Given the description of an element on the screen output the (x, y) to click on. 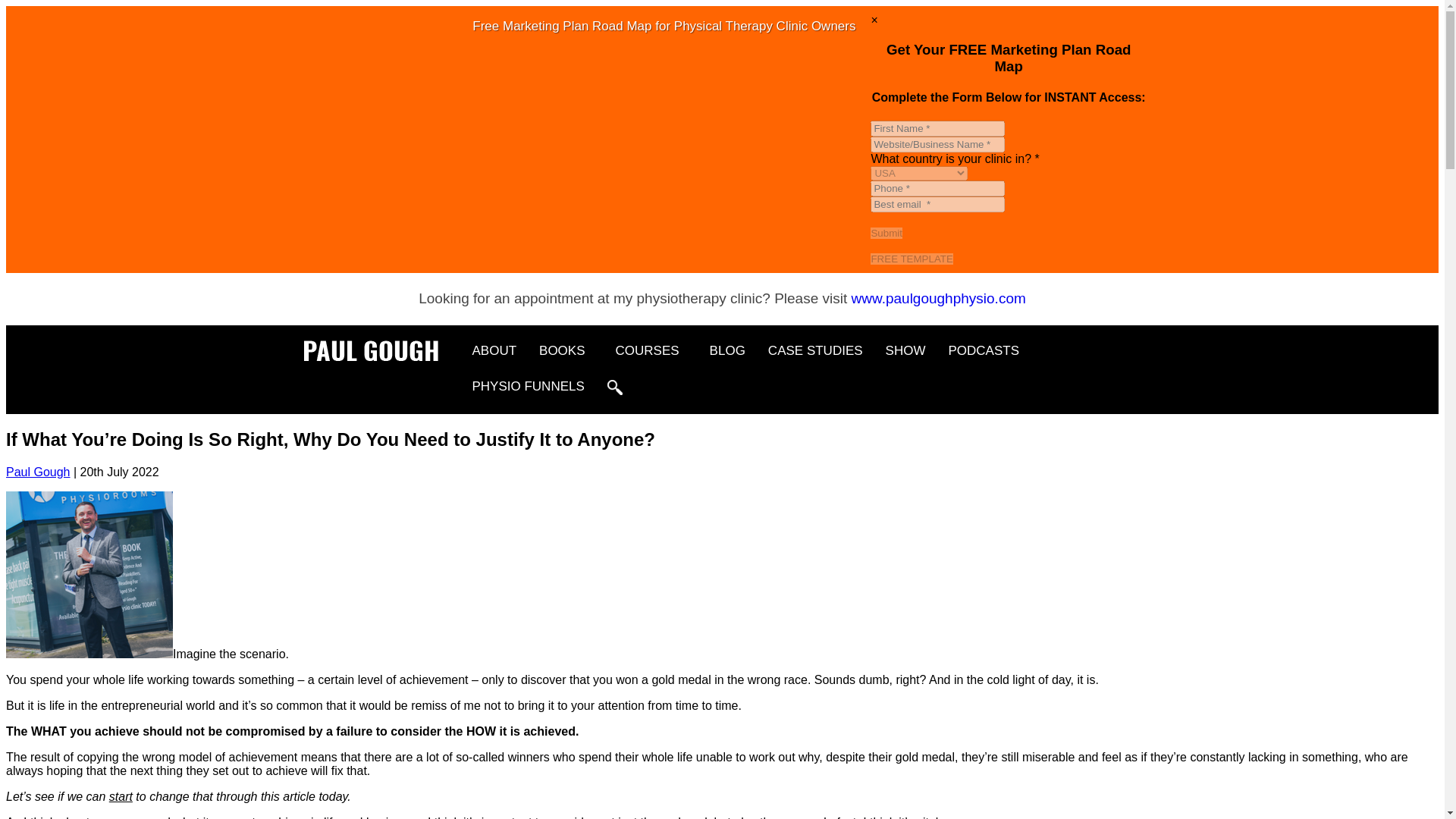
Submit (885, 233)
PHYSIO FUNNELS (528, 386)
BLOG (727, 350)
CASE STUDIES (816, 350)
PODCASTS (983, 350)
BOOKS (565, 350)
SHOW (906, 350)
Paul Gough (37, 472)
COURSES (651, 350)
ABOUT (494, 350)
FREE TEMPLATE (911, 258)
www.paulgoughphysio.com (938, 298)
